Given the description of an element on the screen output the (x, y) to click on. 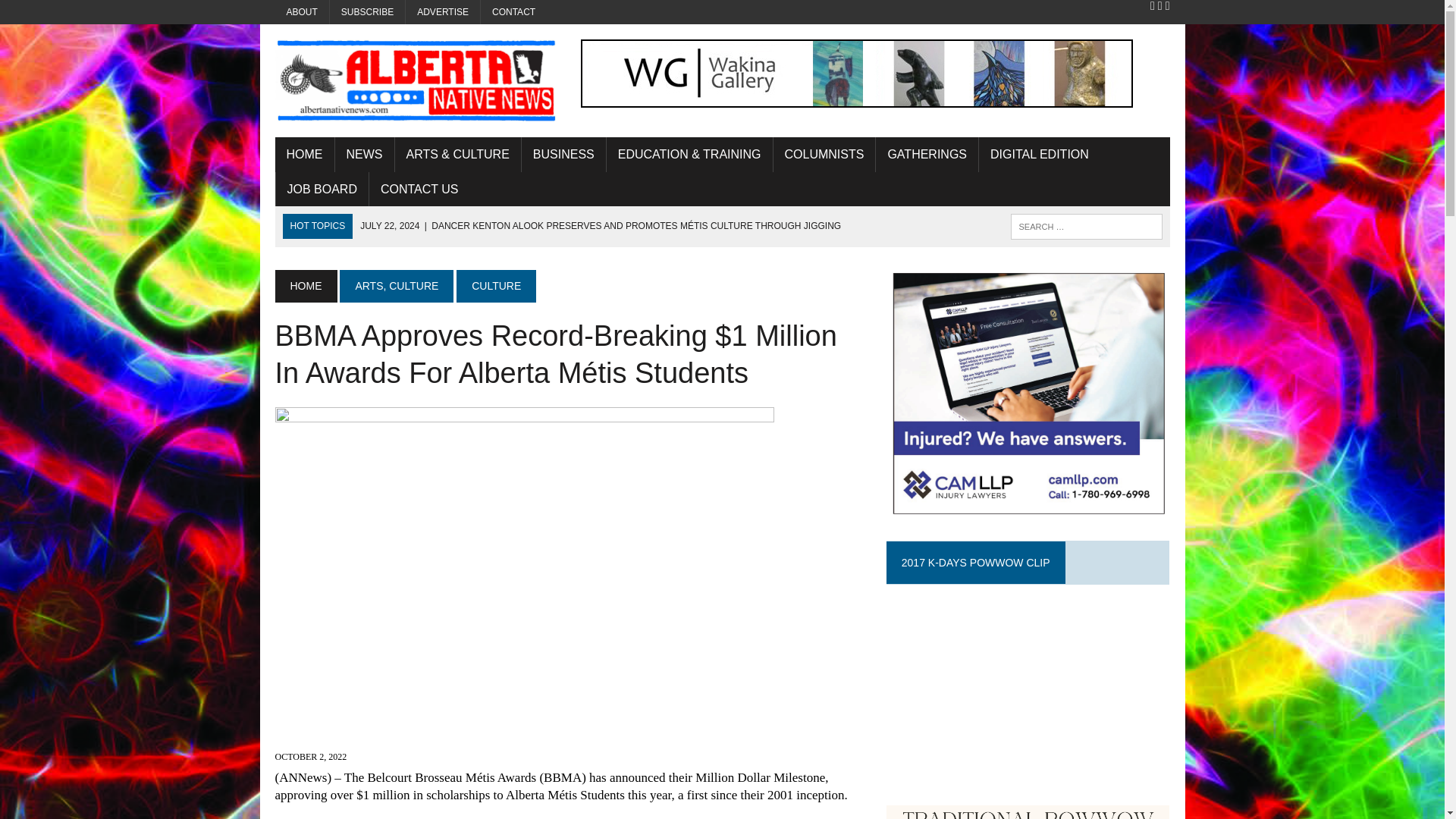
ABOUT (302, 12)
SUBSCRIBE (367, 12)
ADVERTISE (443, 12)
Alberta Native News (416, 80)
CONTACT (513, 12)
